Given the description of an element on the screen output the (x, y) to click on. 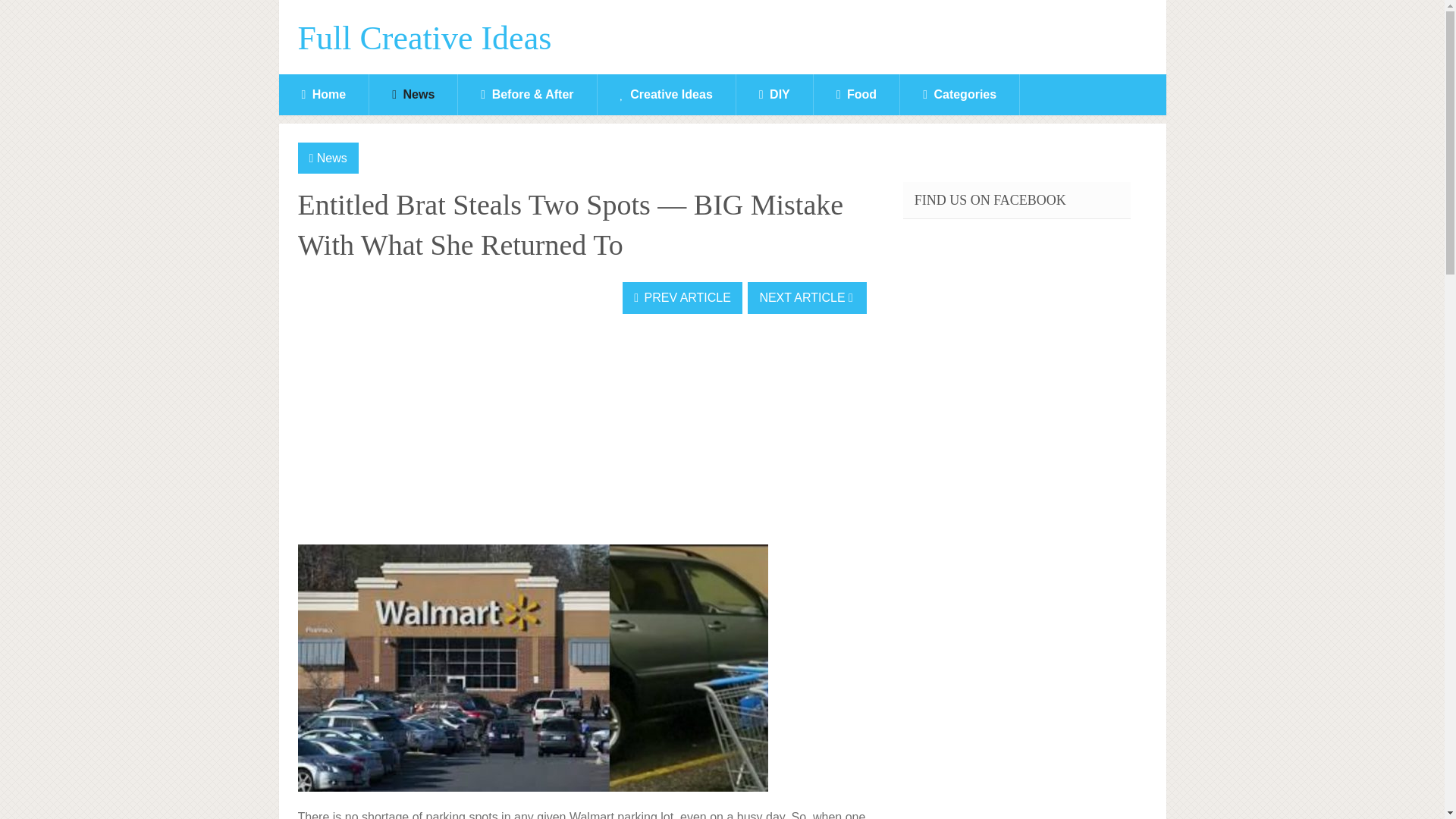
Food (856, 94)
Creative Ideas (665, 94)
NEXT ARTICLE (807, 297)
Home (324, 94)
DIY (774, 94)
Categories (959, 94)
Advertisement (410, 431)
View all posts in News (332, 157)
Full Creative Ideas (424, 38)
News (413, 94)
